Given the description of an element on the screen output the (x, y) to click on. 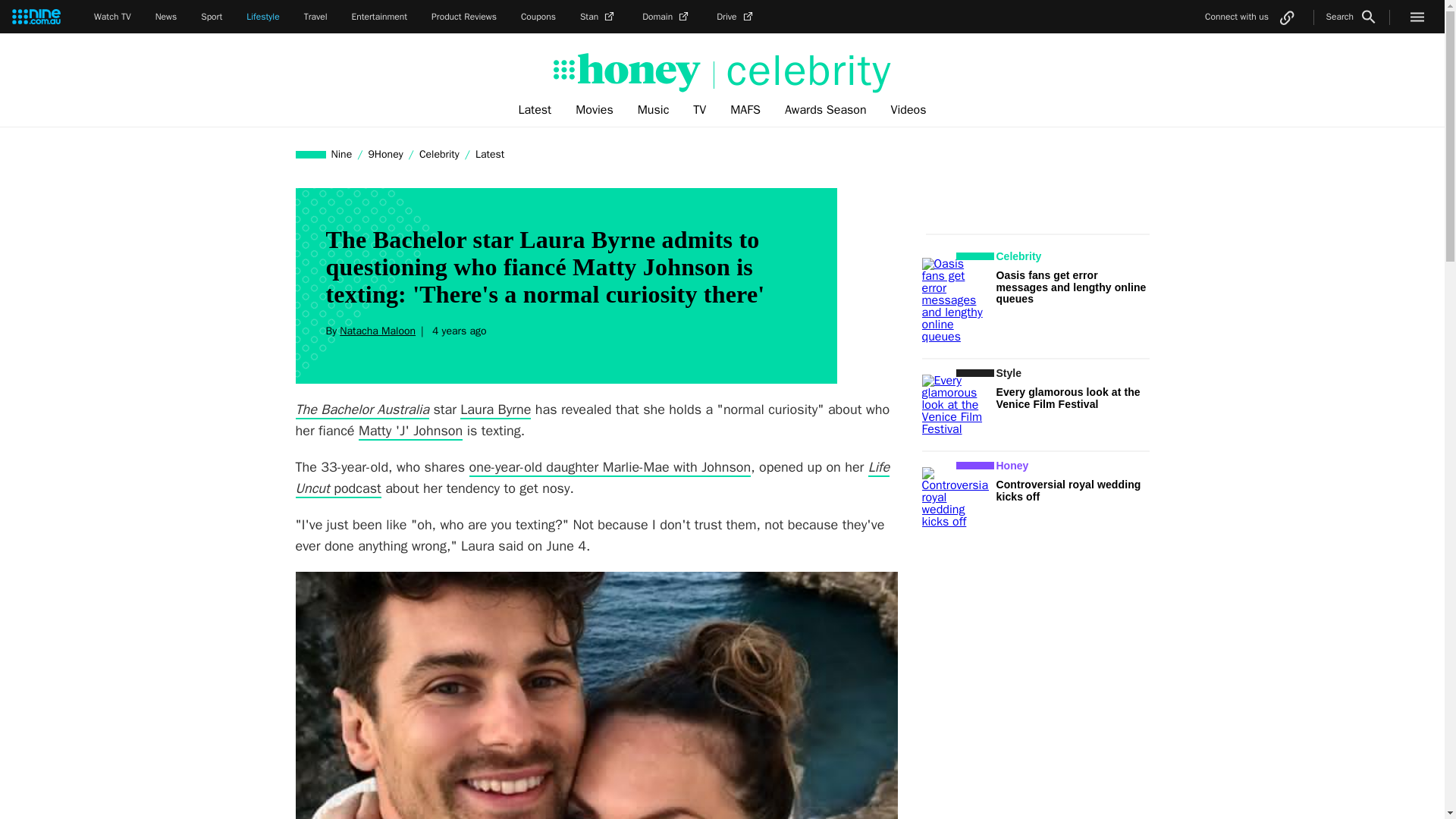
2020-06-05 00:01 (456, 330)
one-year-old daughter Marlie-Mae with Johnson (609, 467)
Lifestyle (262, 16)
Latest (489, 154)
MAFS (745, 109)
Celebrity (438, 154)
TV (699, 109)
one-year-old daughter Marlie-Mae with Johnson (609, 467)
Movies (594, 109)
Videos (909, 109)
